Given the description of an element on the screen output the (x, y) to click on. 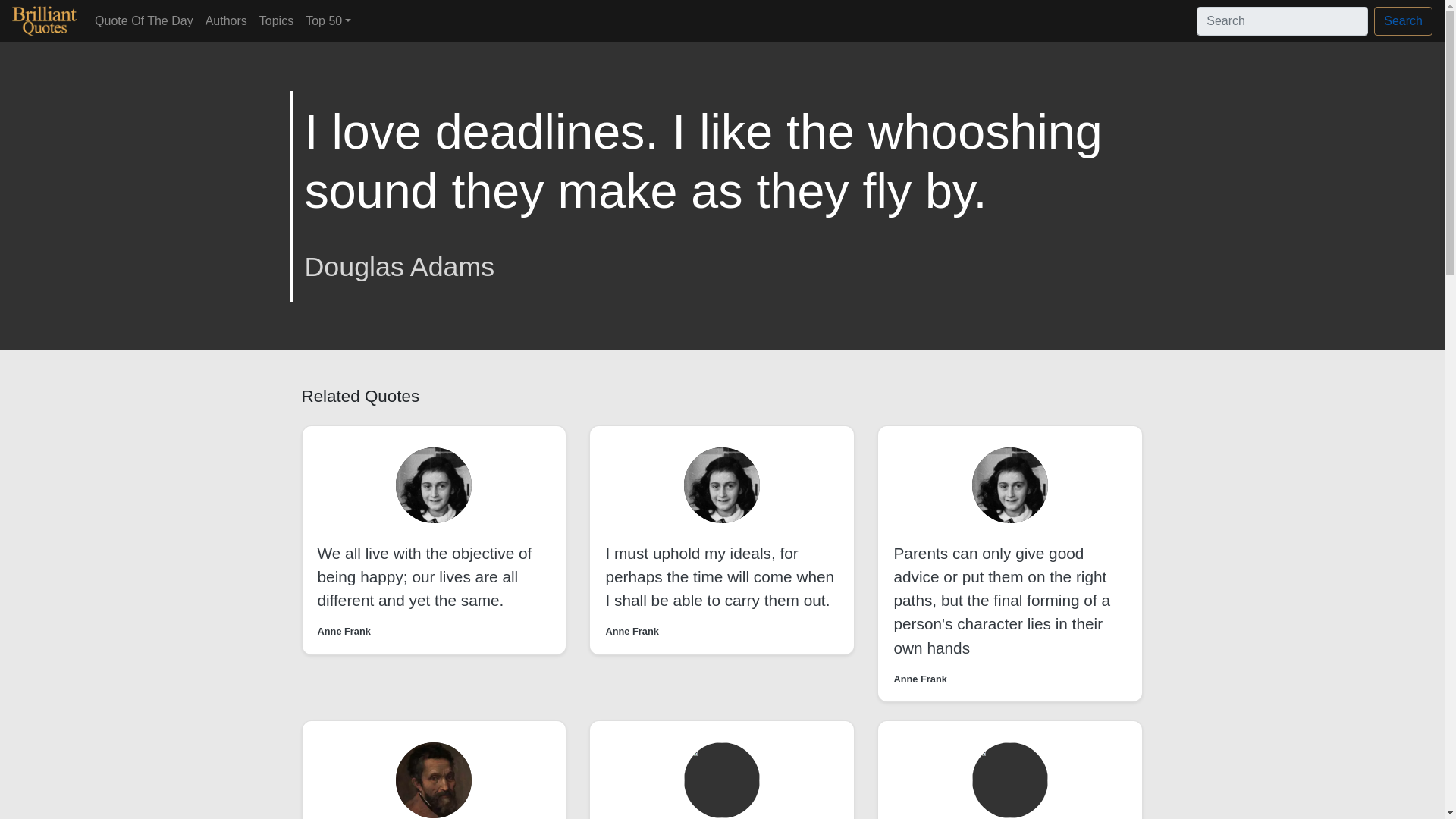
Quote Of The Day (143, 20)
Anne Frank (343, 631)
Top 50 (327, 20)
Search (1403, 21)
Anne Frank (919, 678)
Topics (276, 20)
Authors (226, 20)
